Given the description of an element on the screen output the (x, y) to click on. 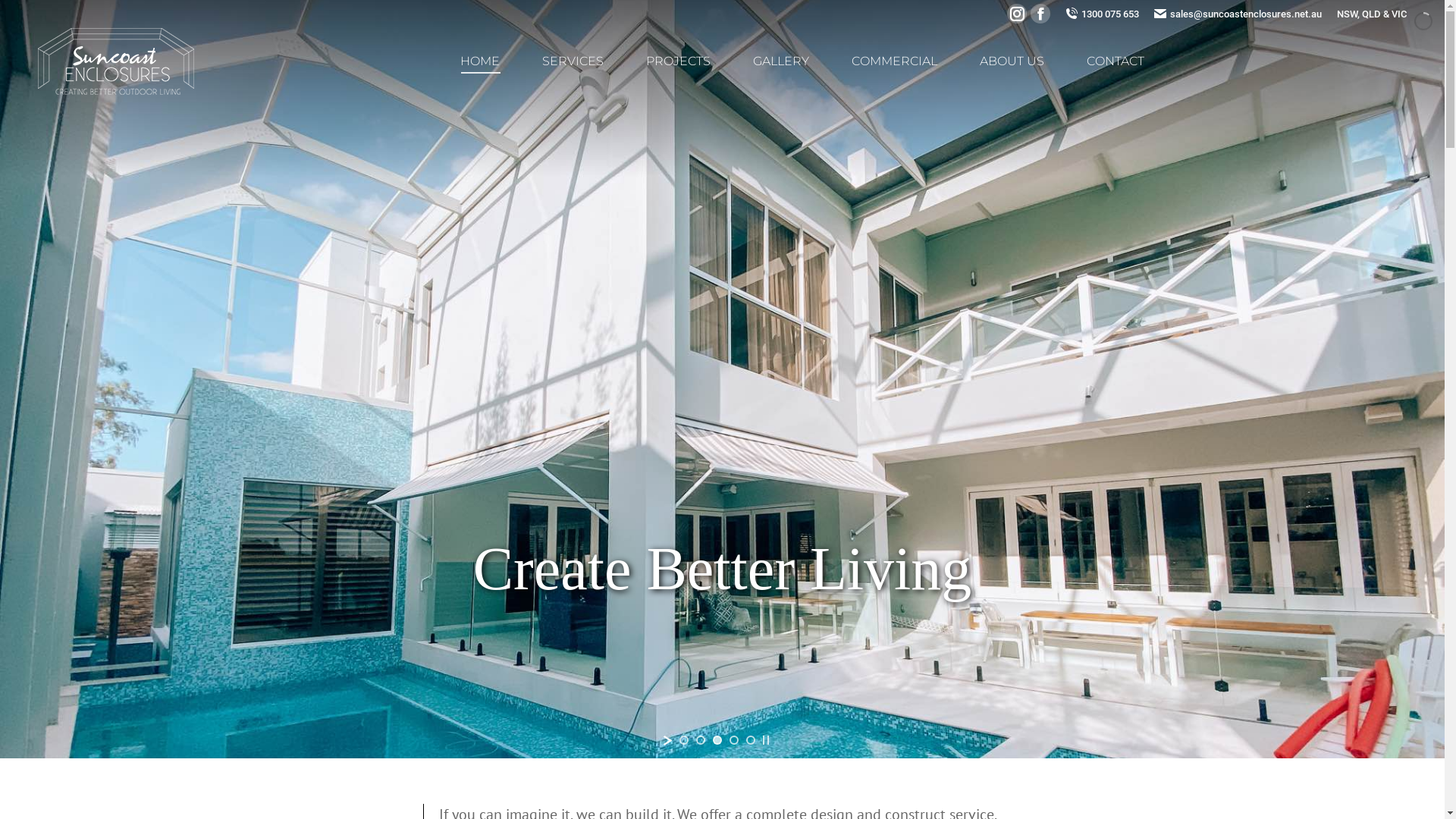
sales@suncoastenclosures.net.au Element type: text (1237, 13)
CONTACT Element type: text (1115, 60)
ABOUT US Element type: text (1011, 60)
Facebook page opens in new window Element type: text (1040, 13)
PROJECTS Element type: text (678, 60)
Instagram page opens in new window Element type: text (1016, 13)
GALLERY Element type: text (780, 60)
COMMERCIAL Element type: text (894, 60)
1300 075 653 Element type: text (1102, 13)
SERVICES Element type: text (572, 60)
HOME Element type: text (479, 60)
